Given the description of an element on the screen output the (x, y) to click on. 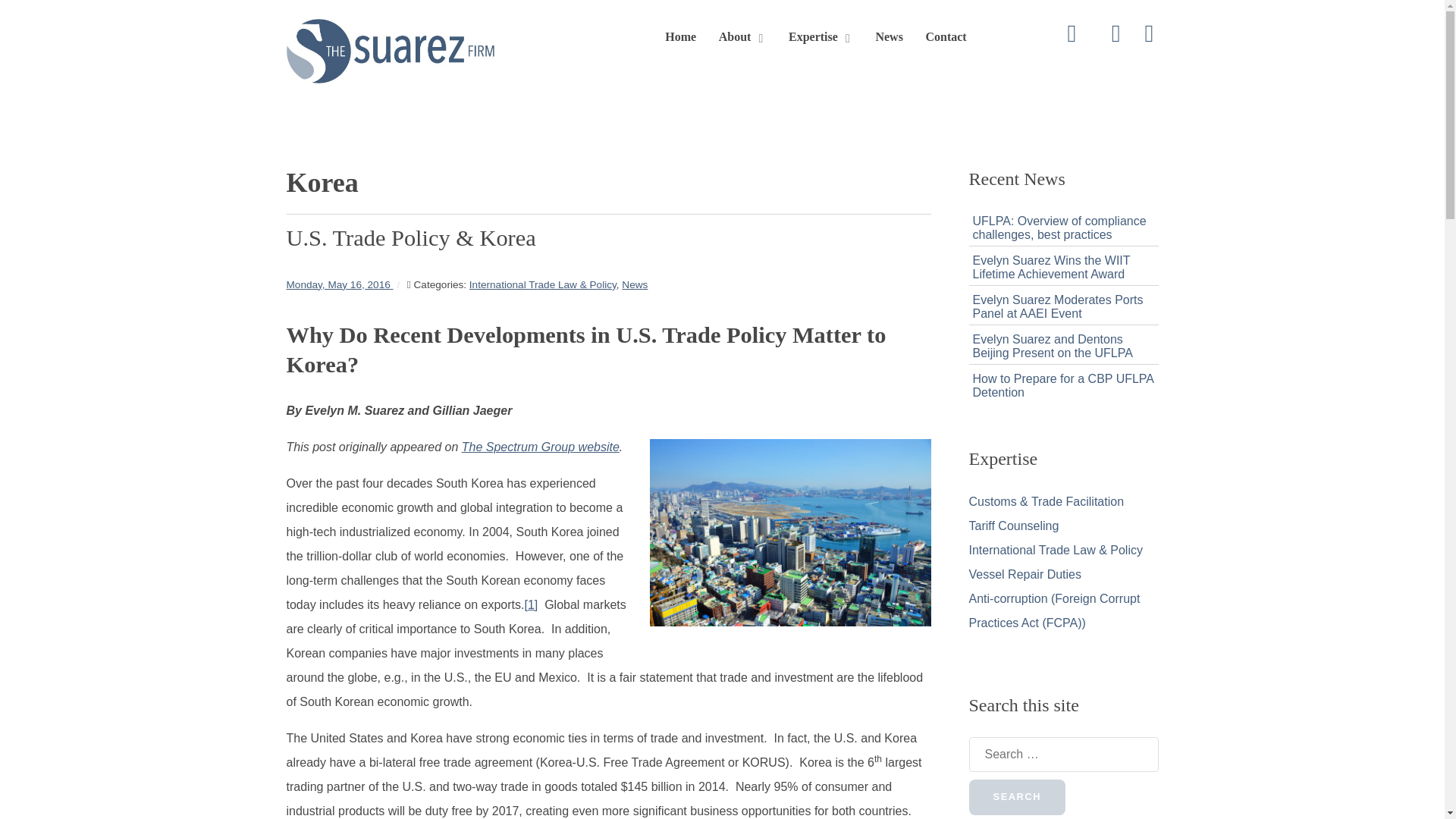
How to Prepare for a CBP UFLPA Detention (1062, 385)
About (743, 38)
Monday, May 16, 2016 (339, 284)
News (634, 284)
Search (1017, 796)
Evelyn Suarez and Dentons Beijing Present on the UFLPA (1052, 345)
Search (1017, 796)
Evelyn Suarez Moderates Ports Panel at AAEI Event (1057, 306)
Follow the Suarez Firm on Twitter (1072, 36)
UFLPA: Overview of compliance challenges, best practices (1058, 227)
